Given the description of an element on the screen output the (x, y) to click on. 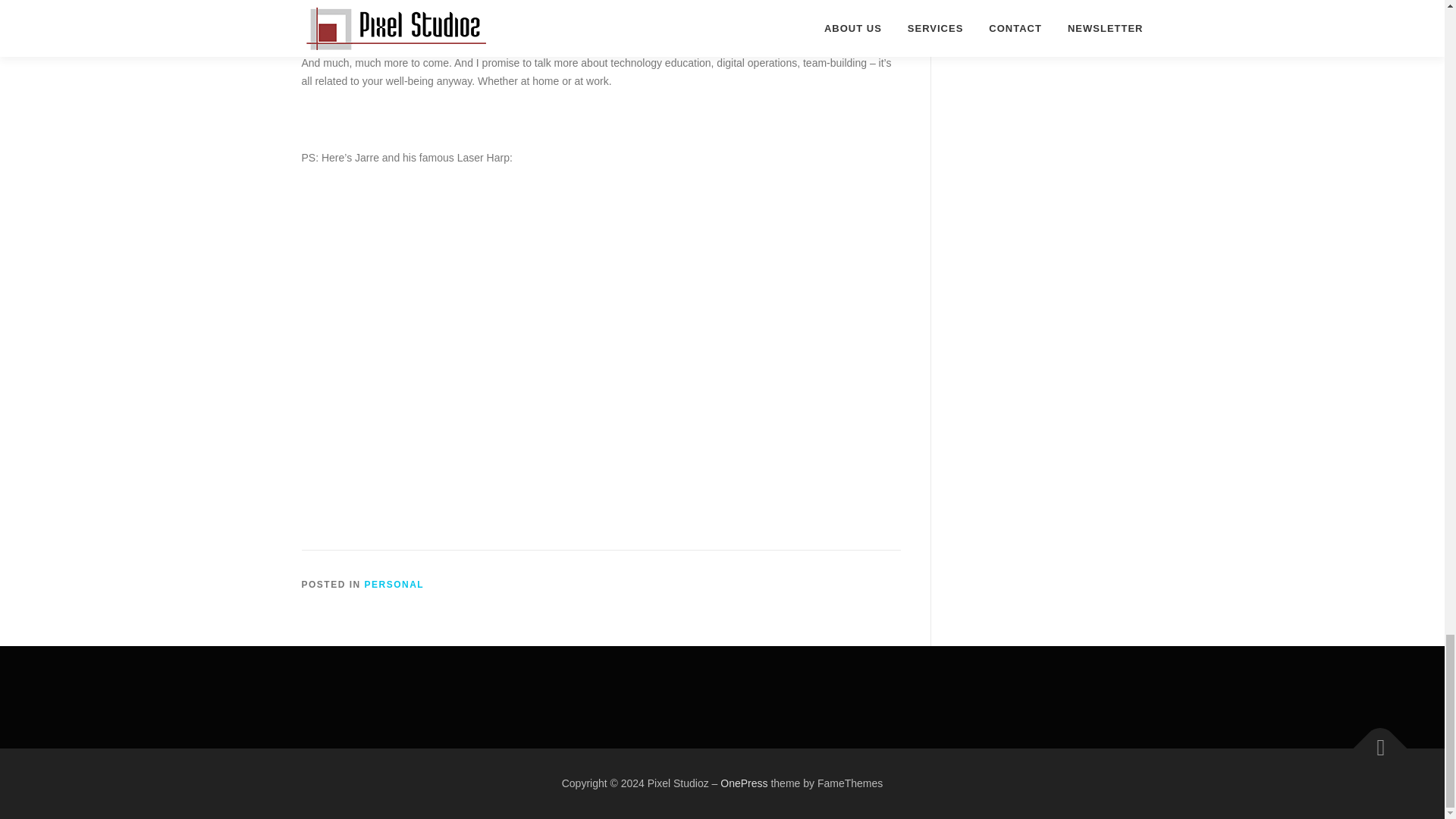
Back To Top (1372, 740)
OnePress (743, 783)
PERSONAL (395, 584)
